Given the description of an element on the screen output the (x, y) to click on. 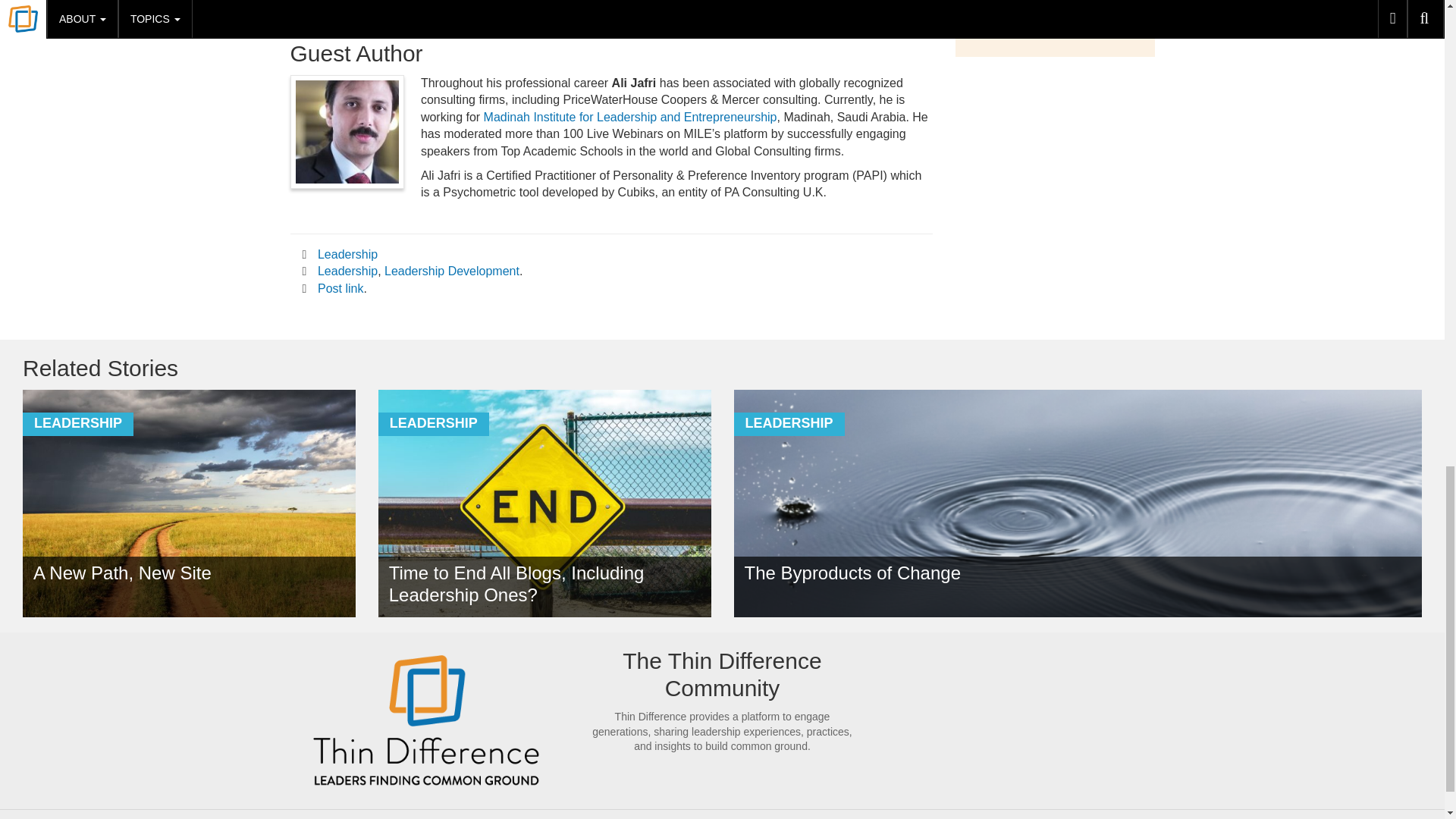
Leadership Development (451, 270)
Madinah Institute for Leadership and Entrepreneurship (630, 116)
Leadership (347, 254)
Post link (339, 287)
Leadership (347, 270)
tweet this (595, 15)
